Given the description of an element on the screen output the (x, y) to click on. 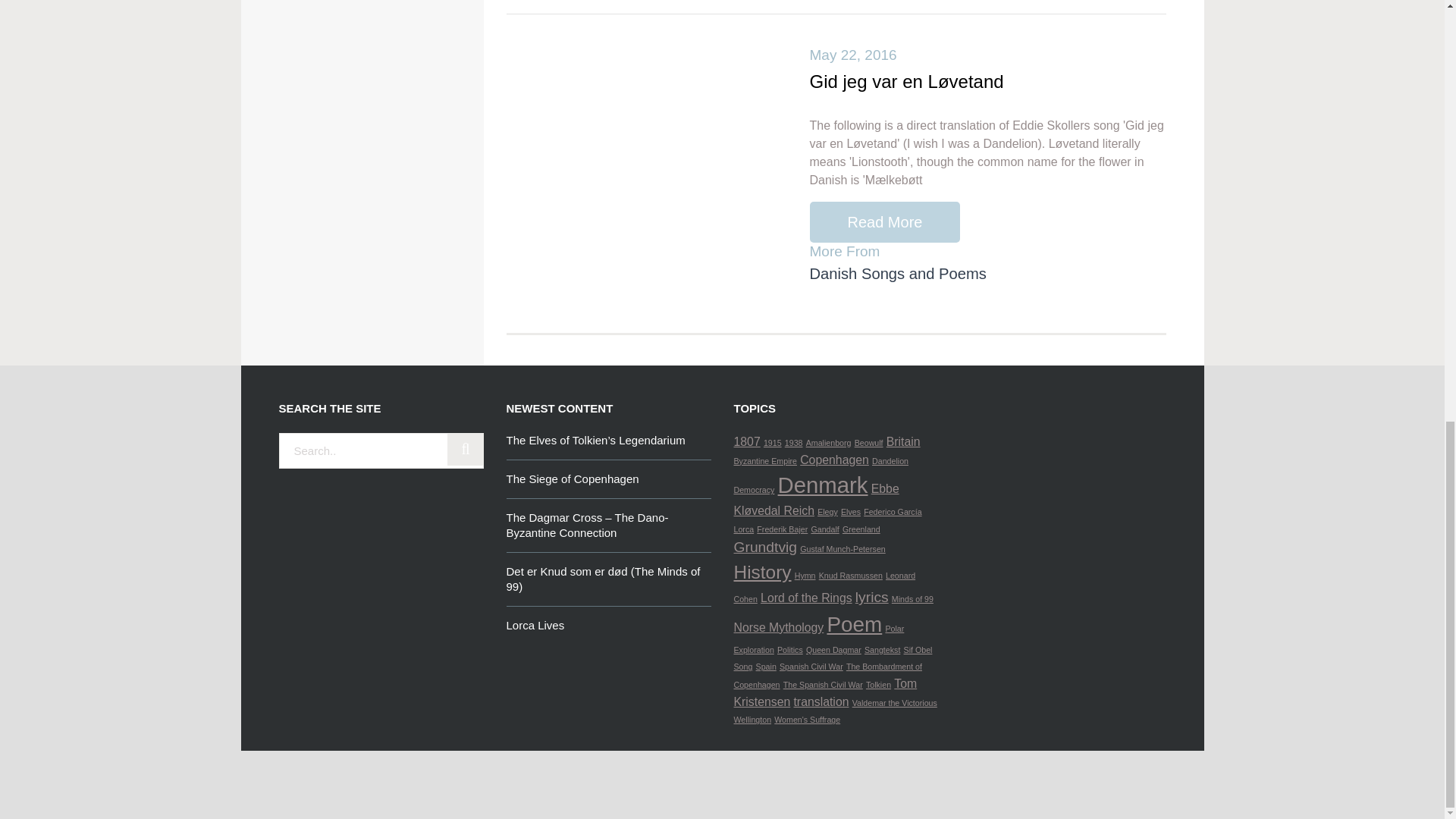
1915 (771, 442)
Britain (903, 440)
Amalienborg (828, 442)
Danish Songs and Poems (898, 273)
Dandelion (890, 460)
Byzantine Empire (765, 460)
1938 (793, 442)
Beowulf (868, 442)
The Siege of Copenhagen (608, 478)
Copenhagen (834, 459)
